Given the description of an element on the screen output the (x, y) to click on. 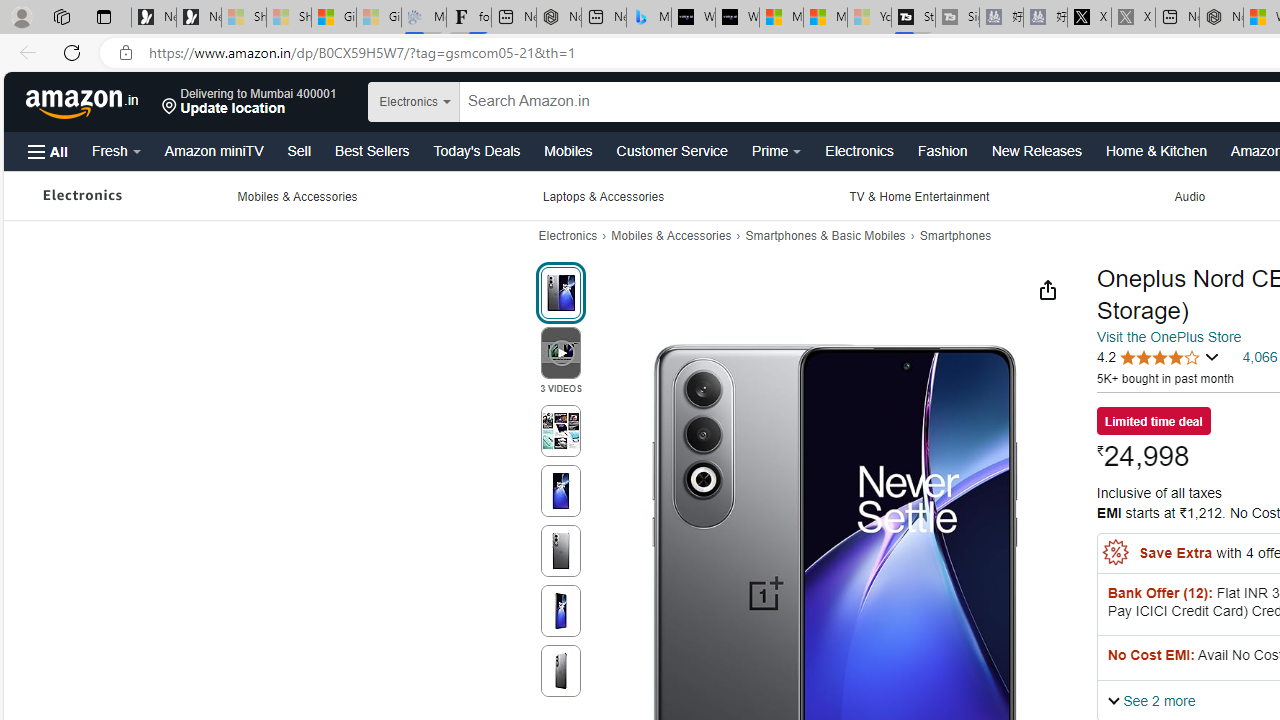
Streaming Coverage | T3 (913, 17)
New Releases (1036, 150)
Delivering to Mumbai 400001 Update location (249, 101)
Best Sellers (372, 150)
Open Menu (47, 151)
Microsoft Start (825, 17)
Smartphones (955, 235)
What's the best AI voice generator? - voice.ai (737, 17)
Amazon miniTV (214, 150)
X (1089, 17)
